Given the description of an element on the screen output the (x, y) to click on. 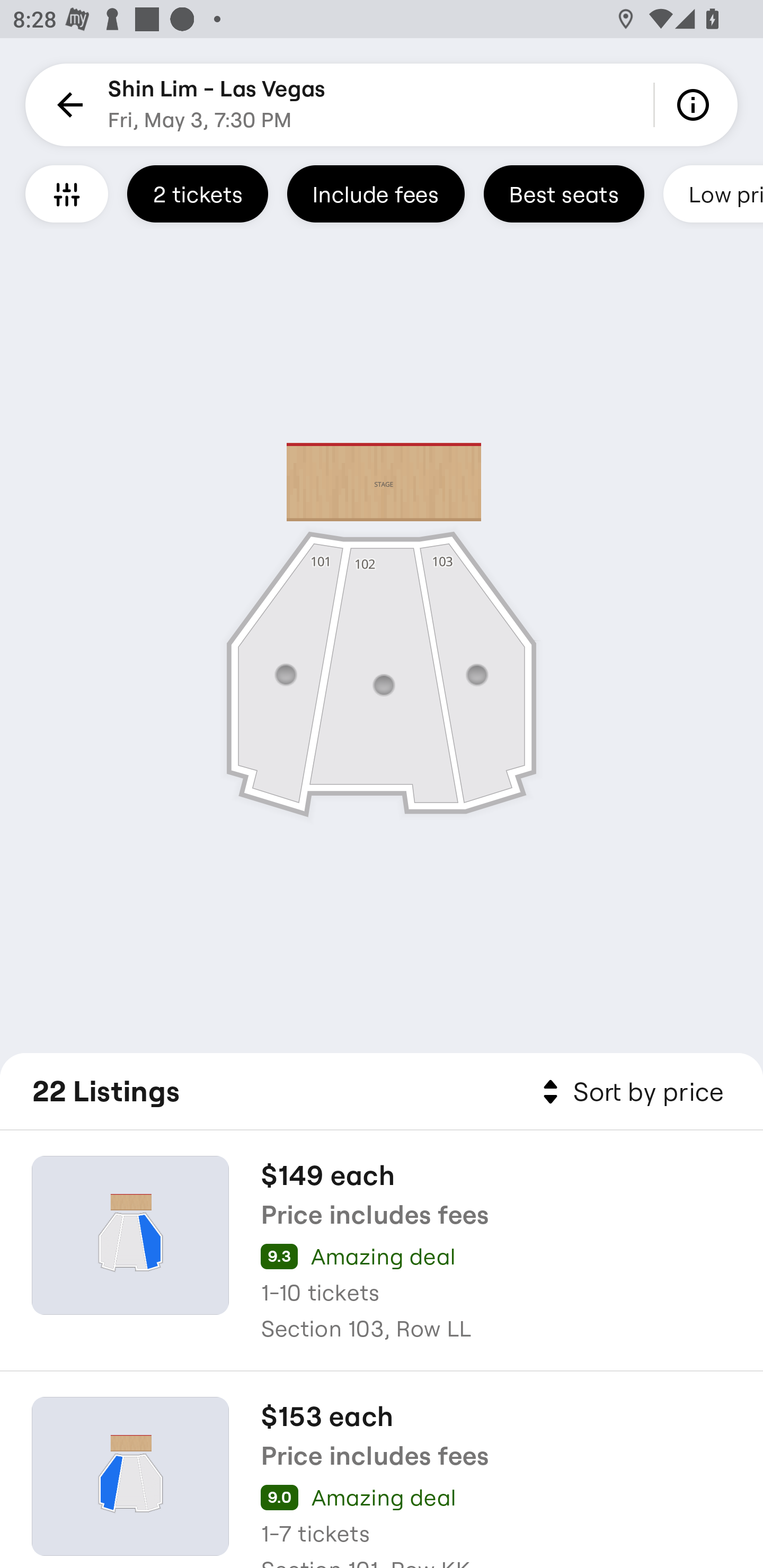
Back Shin Lim - Las Vegas Fri, May 3, 7:30 PM Info (381, 104)
Back (66, 104)
Shin Lim - Las Vegas Fri, May 3, 7:30 PM (216, 104)
Info (695, 104)
Filters and Accessible Seating (66, 193)
2 tickets (197, 193)
Include fees (375, 193)
Best seats (563, 193)
Low prices (713, 193)
Sort by price (629, 1091)
